Given the description of an element on the screen output the (x, y) to click on. 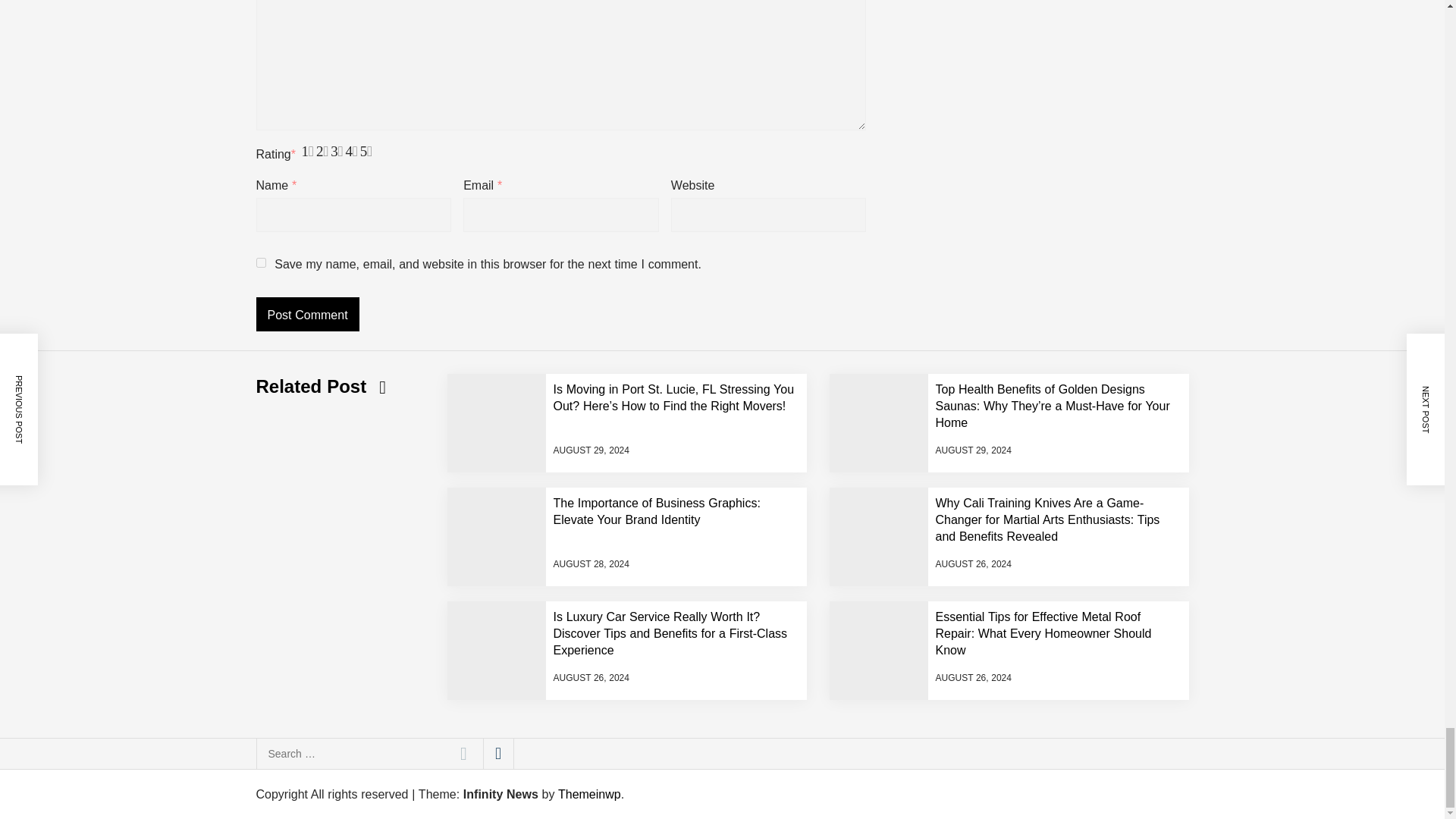
yes (261, 262)
Search (462, 753)
Search (462, 753)
Post Comment (307, 314)
